Given the description of an element on the screen output the (x, y) to click on. 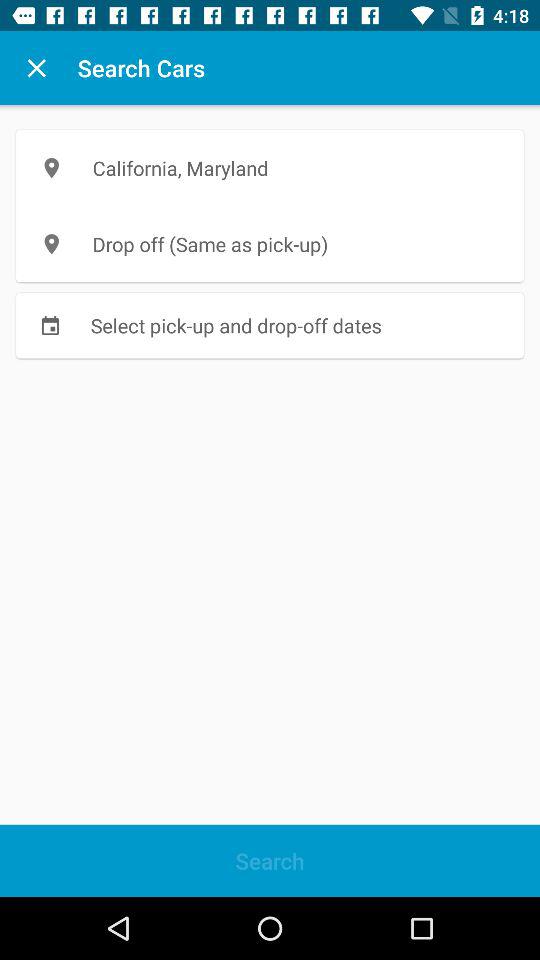
swipe to the california, maryland item (269, 168)
